Given the description of an element on the screen output the (x, y) to click on. 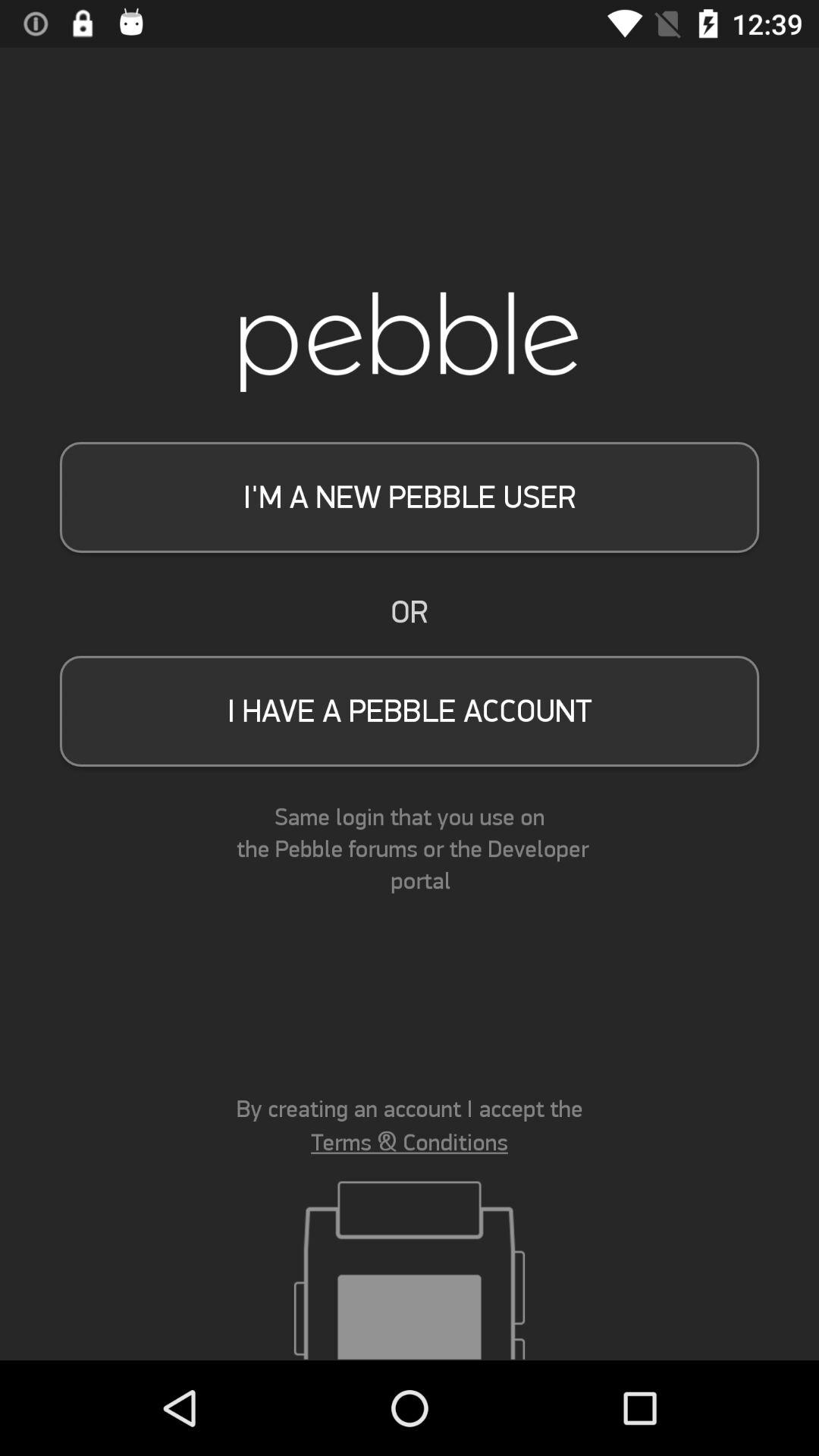
flip until the i m a icon (409, 496)
